Given the description of an element on the screen output the (x, y) to click on. 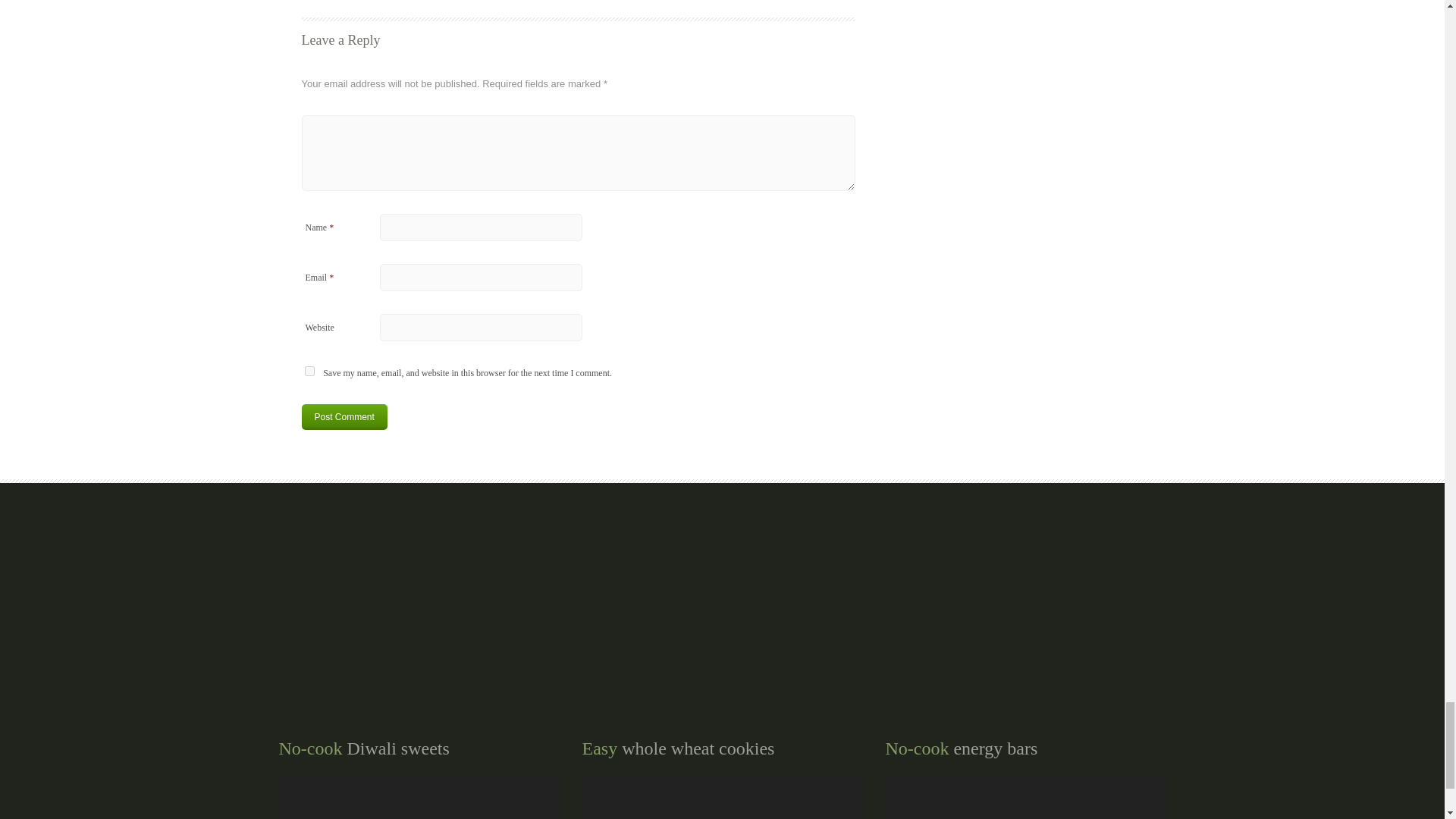
Post Comment (344, 416)
yes (309, 370)
